Given the description of an element on the screen output the (x, y) to click on. 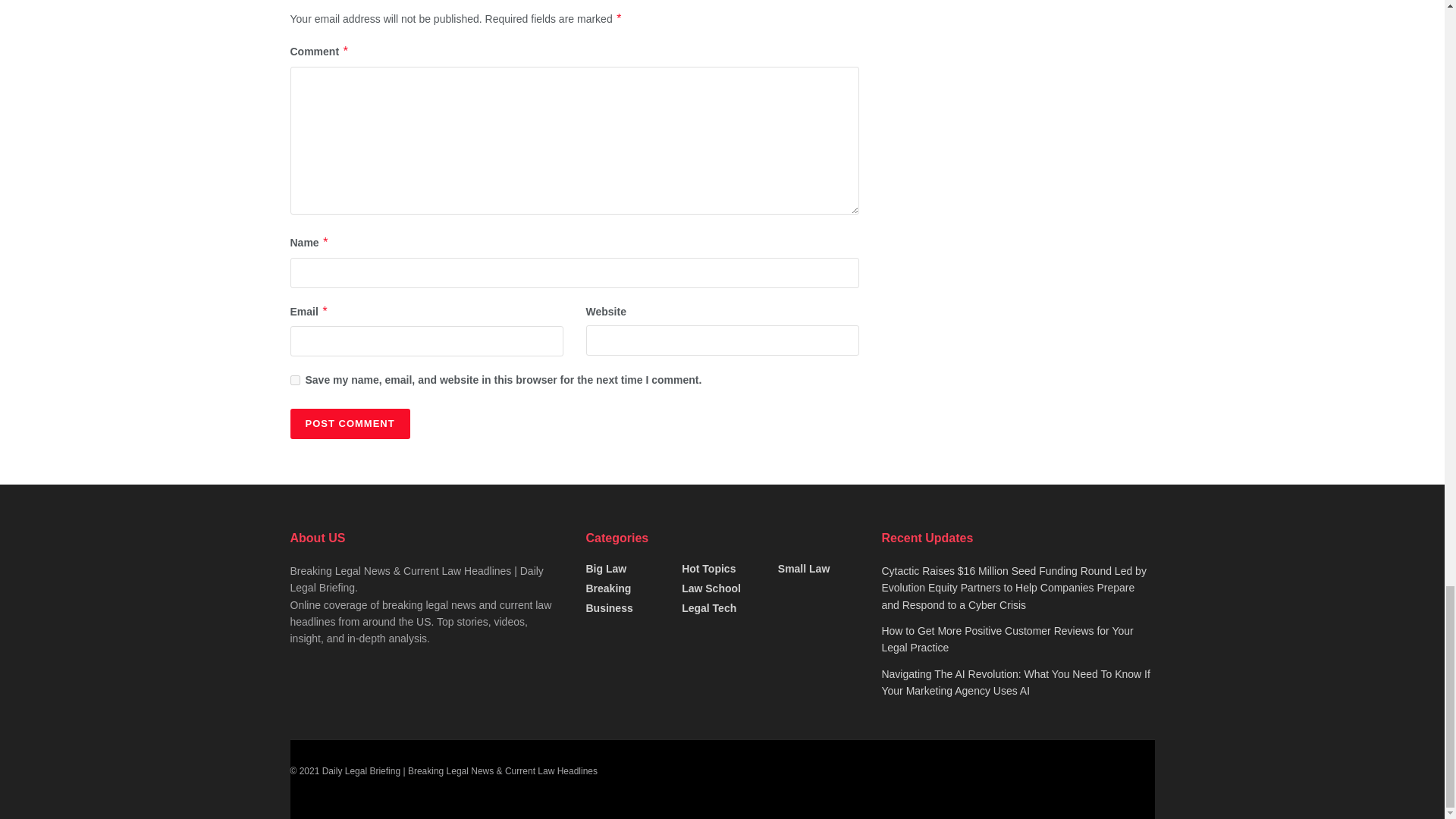
yes (294, 379)
Post Comment (349, 423)
